Given the description of an element on the screen output the (x, y) to click on. 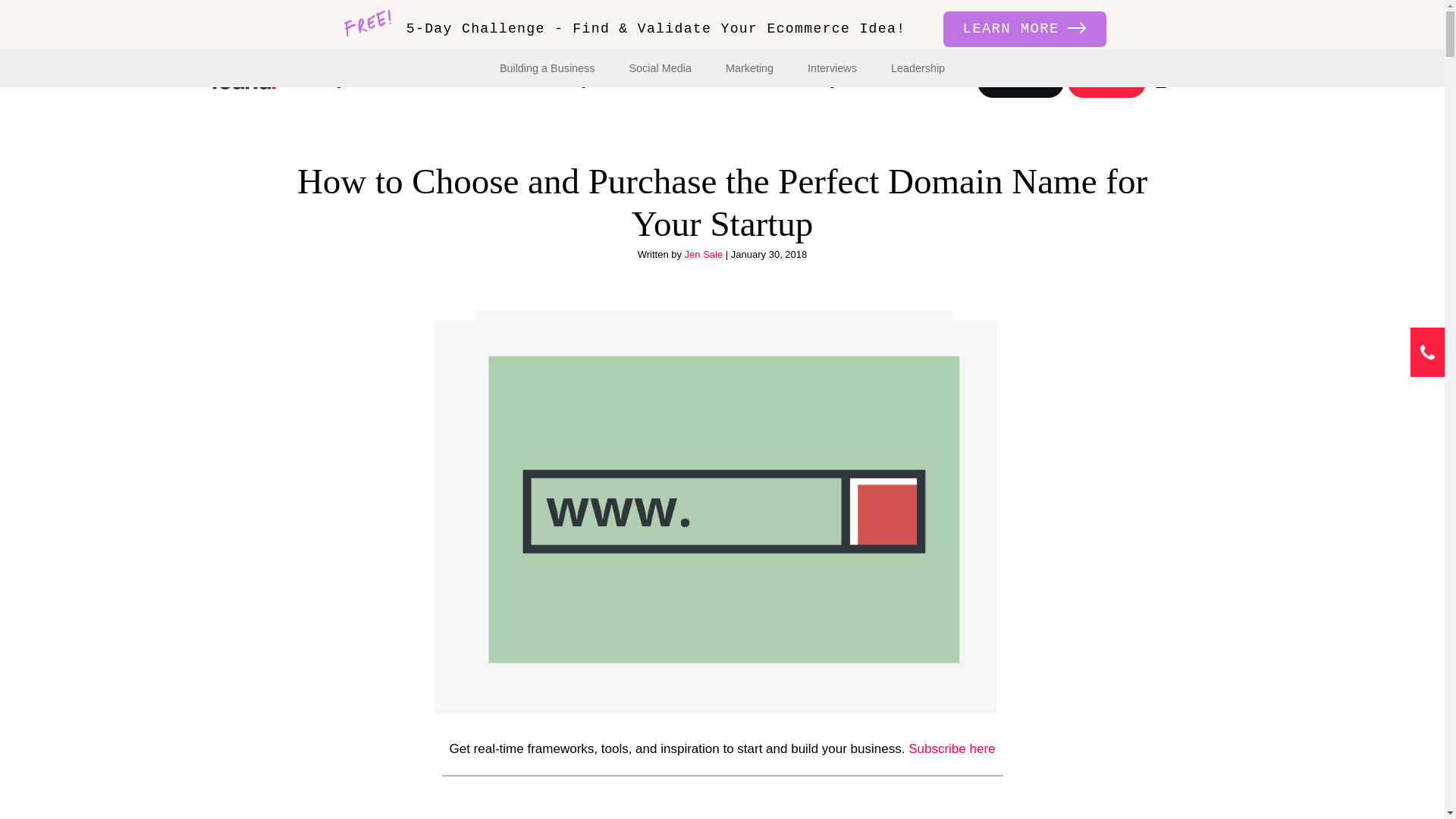
Leadership (917, 67)
Free Training (548, 81)
Interviews (832, 67)
Jen Sale (703, 254)
Magazine (338, 81)
Marketing (749, 67)
Podcasts (408, 81)
Articles (472, 81)
Social Media (659, 67)
Courses (1105, 81)
